Given the description of an element on the screen output the (x, y) to click on. 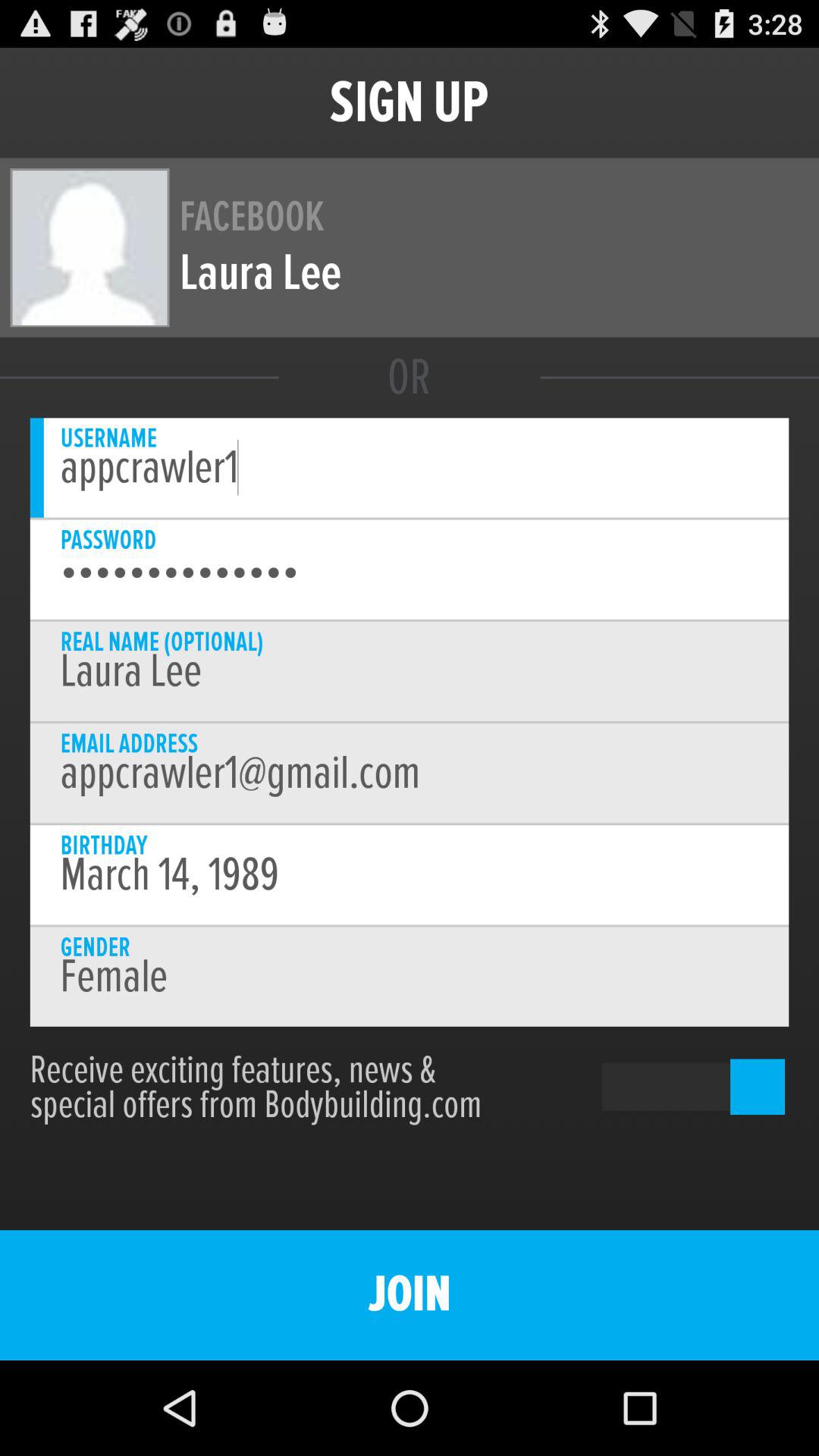
select the text field which is above the email address (409, 670)
click on the button which is above the join button (668, 1087)
click on the username field (409, 467)
click on the gender box (409, 976)
